Given the description of an element on the screen output the (x, y) to click on. 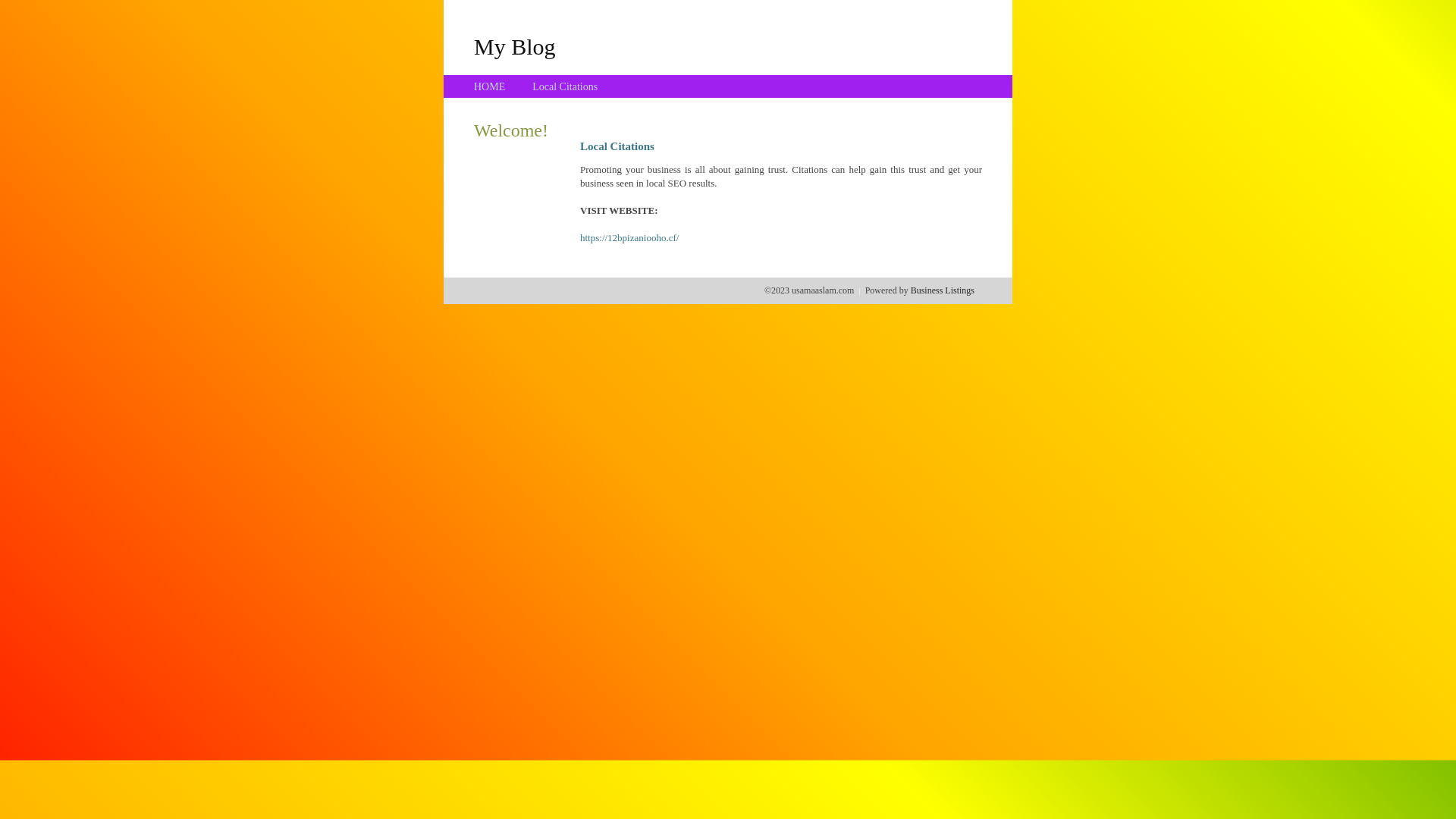
HOME Element type: text (489, 86)
Local Citations Element type: text (564, 86)
https://12bpizaniooho.cf/ Element type: text (629, 237)
My Blog Element type: text (514, 46)
Business Listings Element type: text (942, 290)
